Given the description of an element on the screen output the (x, y) to click on. 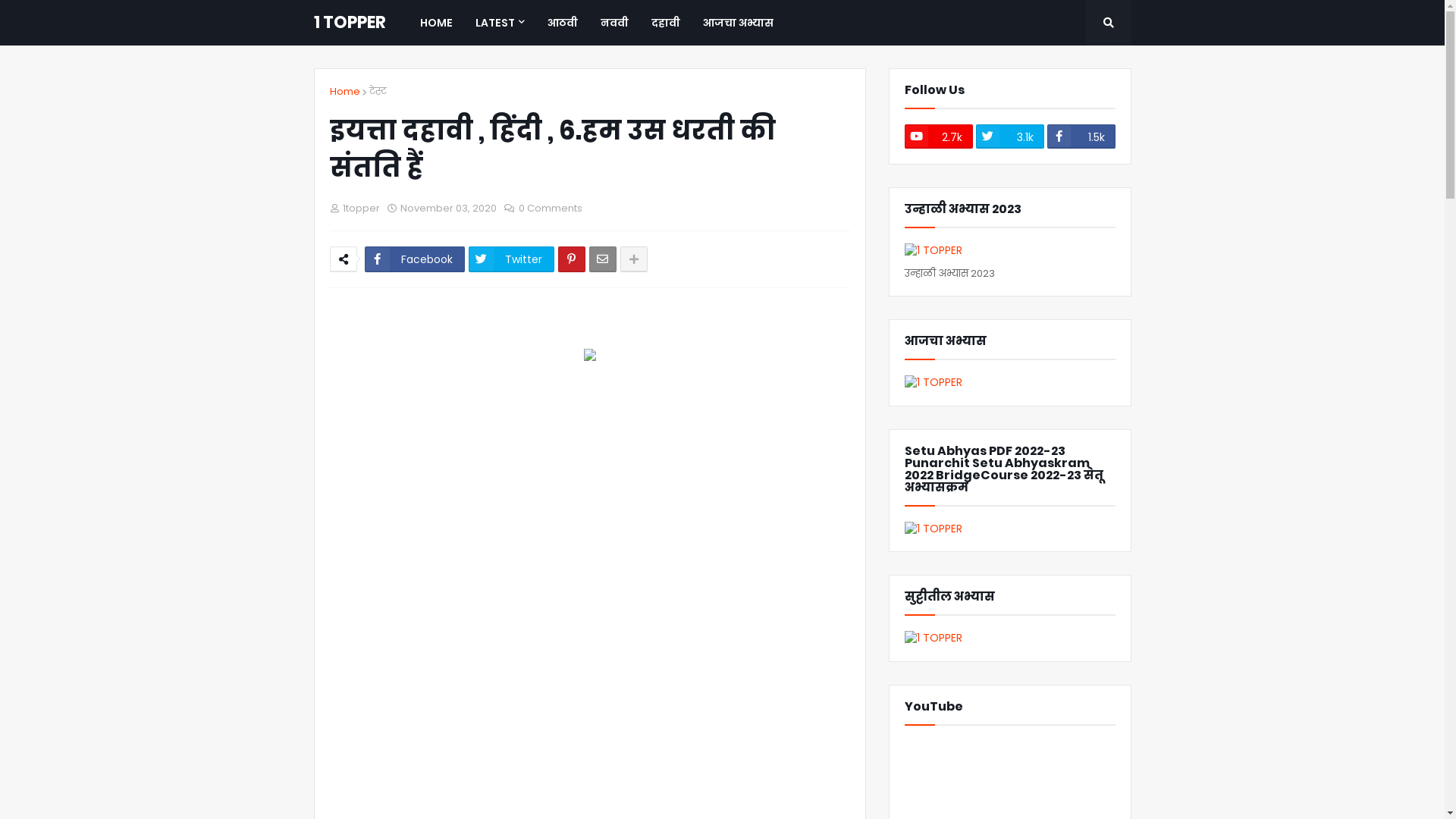
1 TOPPER Element type: text (349, 22)
Pinterest Element type: hover (571, 259)
1.5k Element type: text (1080, 136)
3.1k Element type: text (1009, 136)
LATEST Element type: text (500, 22)
Facebook Element type: text (414, 259)
0 Comments Element type: text (550, 207)
Twitter Element type: text (511, 259)
Ok Element type: text (1102, 67)
HOME Element type: text (435, 22)
2.7k Element type: text (937, 136)
Home Element type: text (344, 91)
Email Element type: hover (601, 259)
